Given the description of an element on the screen output the (x, y) to click on. 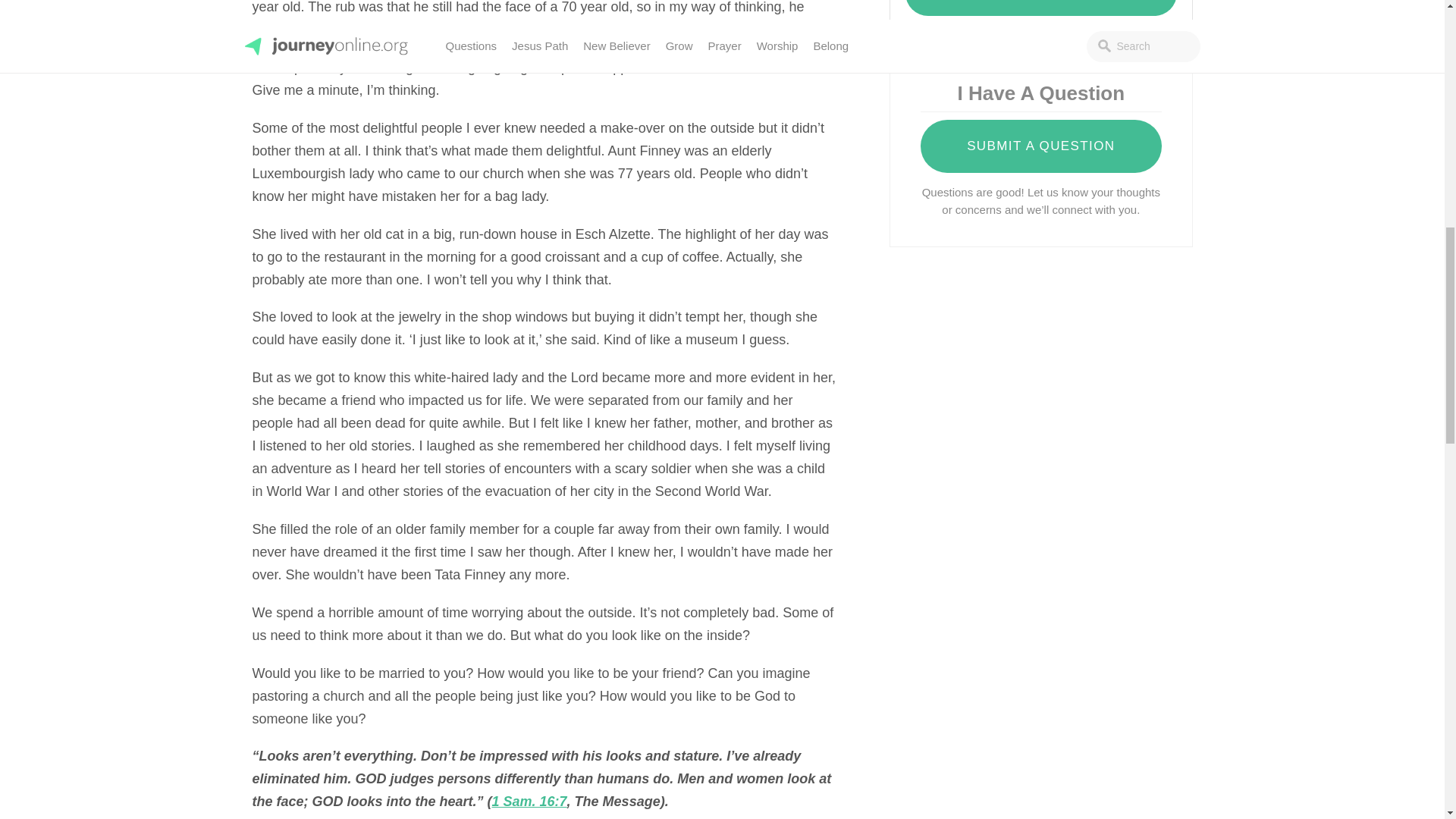
SUBMIT A QUESTION (1040, 145)
SUBSCRIBE (1040, 7)
1 Sam. 16:7 (529, 801)
